Given the description of an element on the screen output the (x, y) to click on. 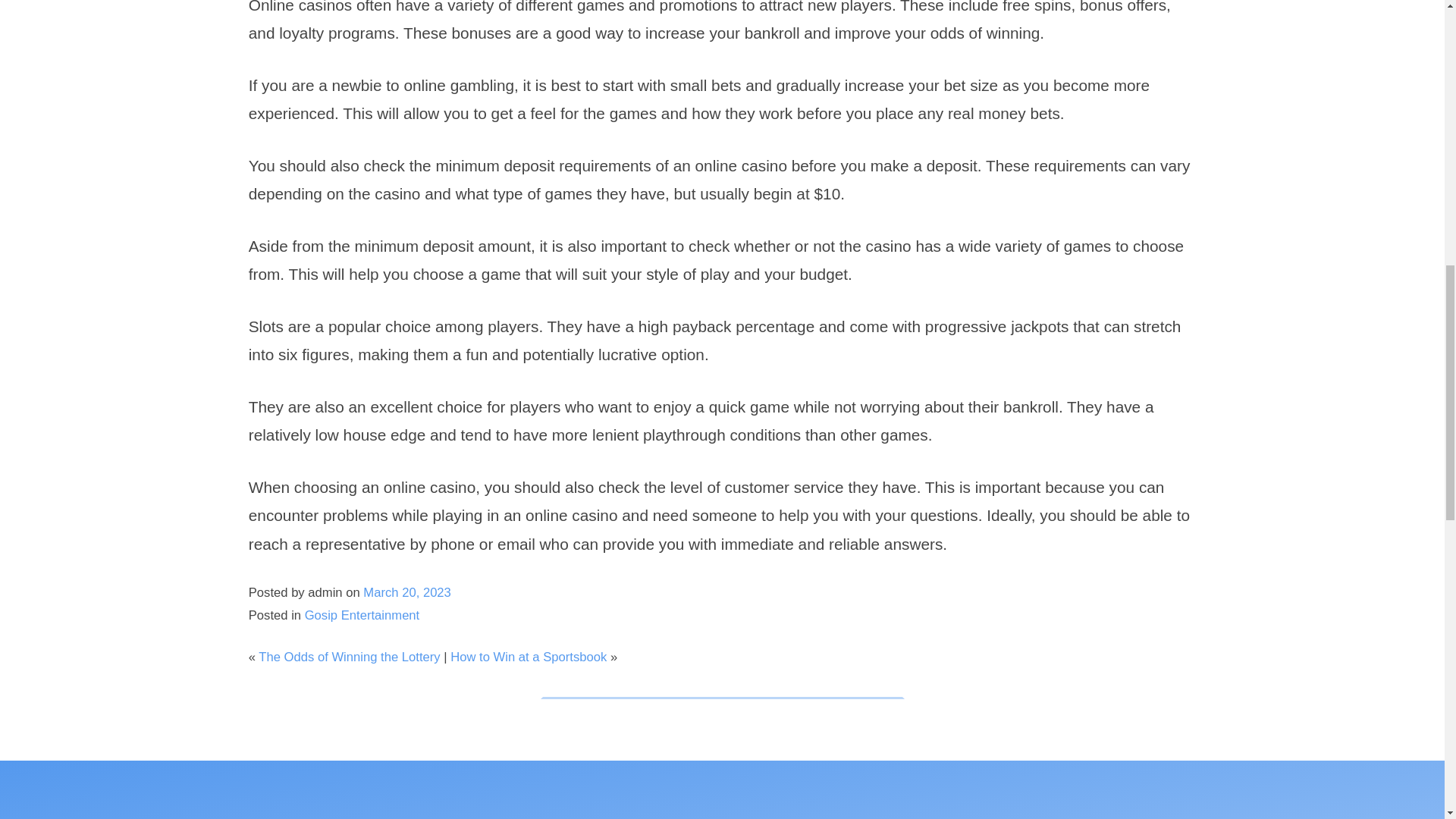
March 20, 2023 (406, 592)
Gosip Entertainment (362, 615)
How to Win at a Sportsbook (528, 657)
The Odds of Winning the Lottery (349, 657)
